Given the description of an element on the screen output the (x, y) to click on. 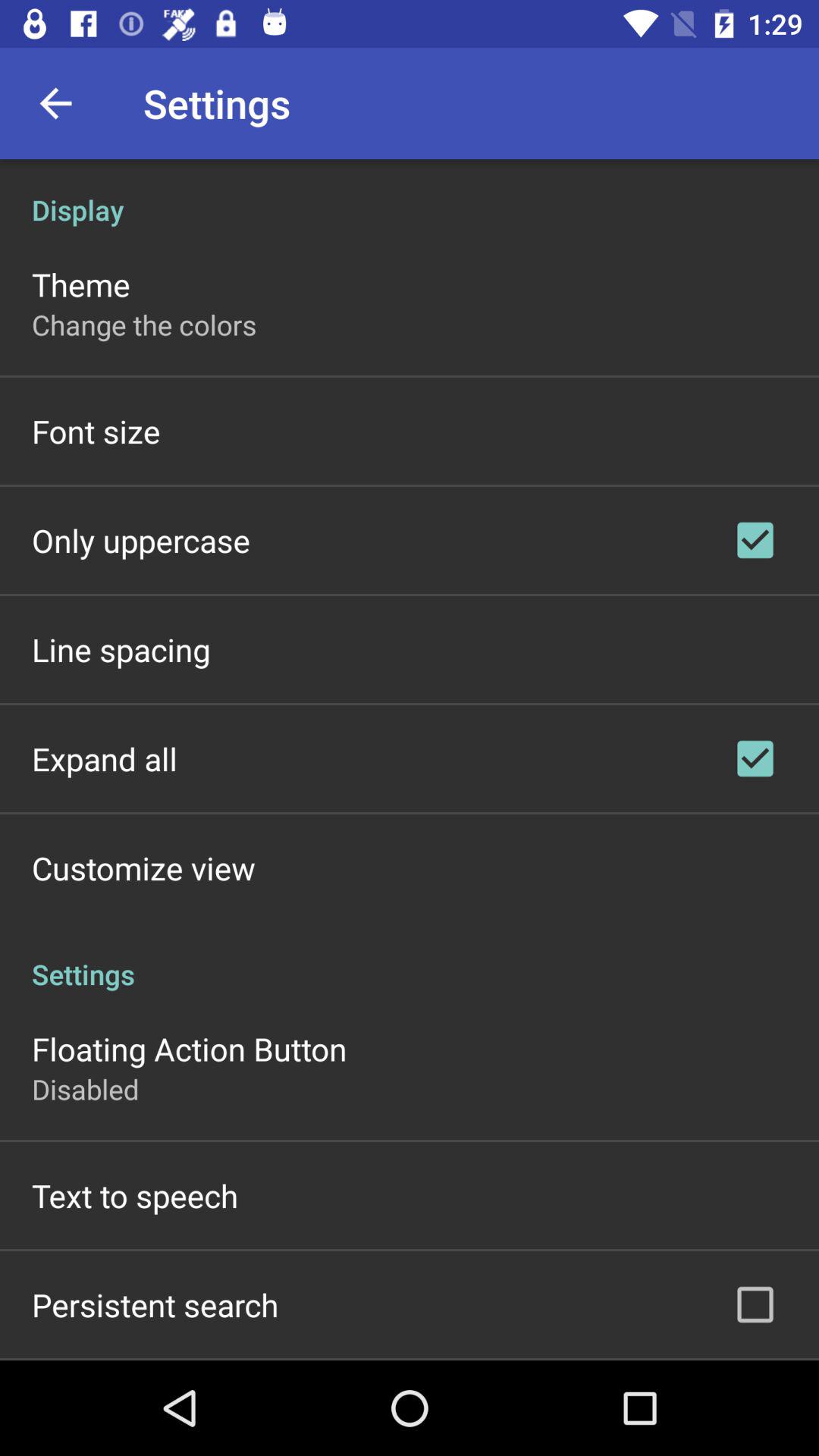
press the expand all item (104, 758)
